Given the description of an element on the screen output the (x, y) to click on. 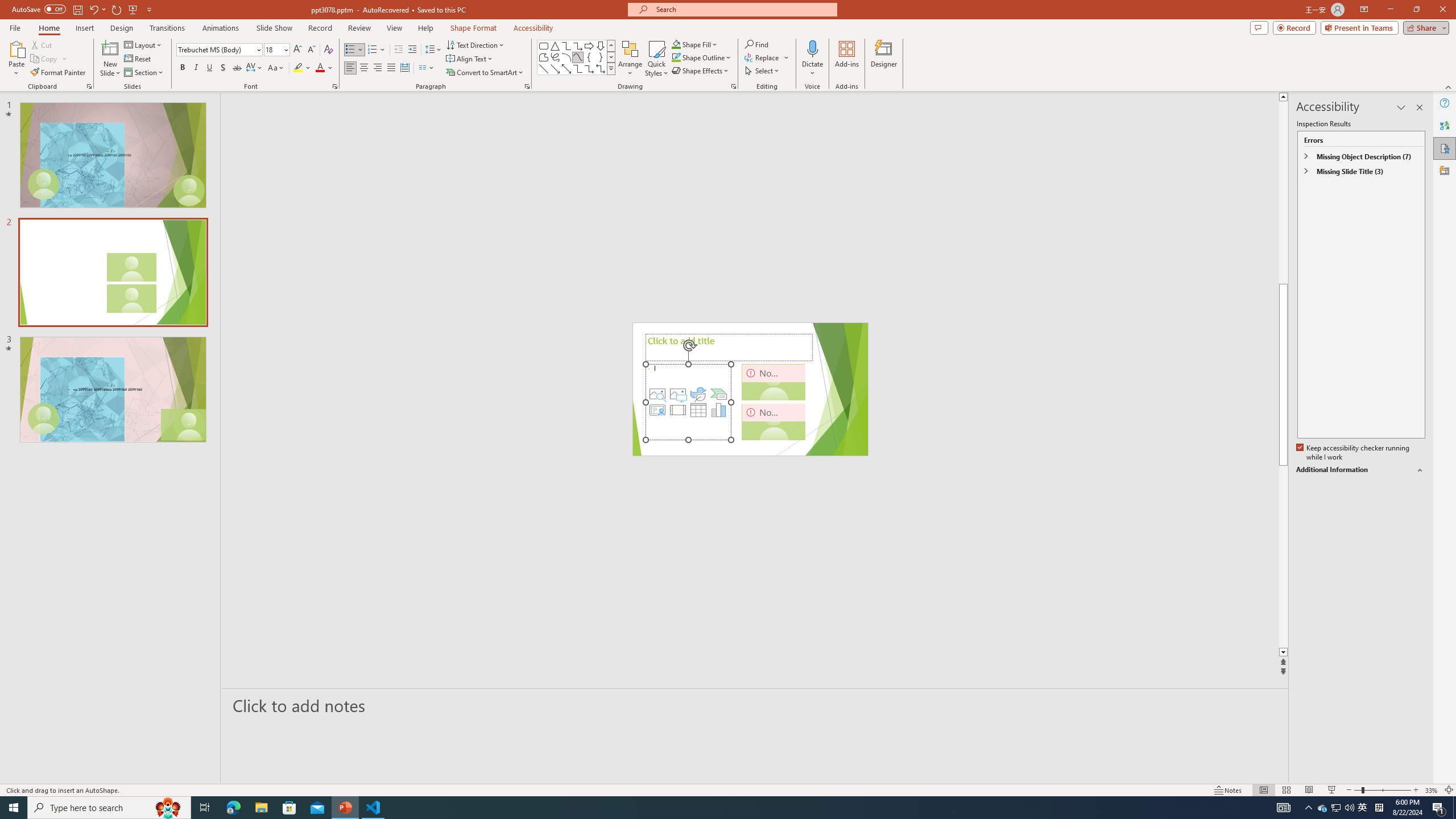
Insert Chart (719, 409)
